Given the description of an element on the screen output the (x, y) to click on. 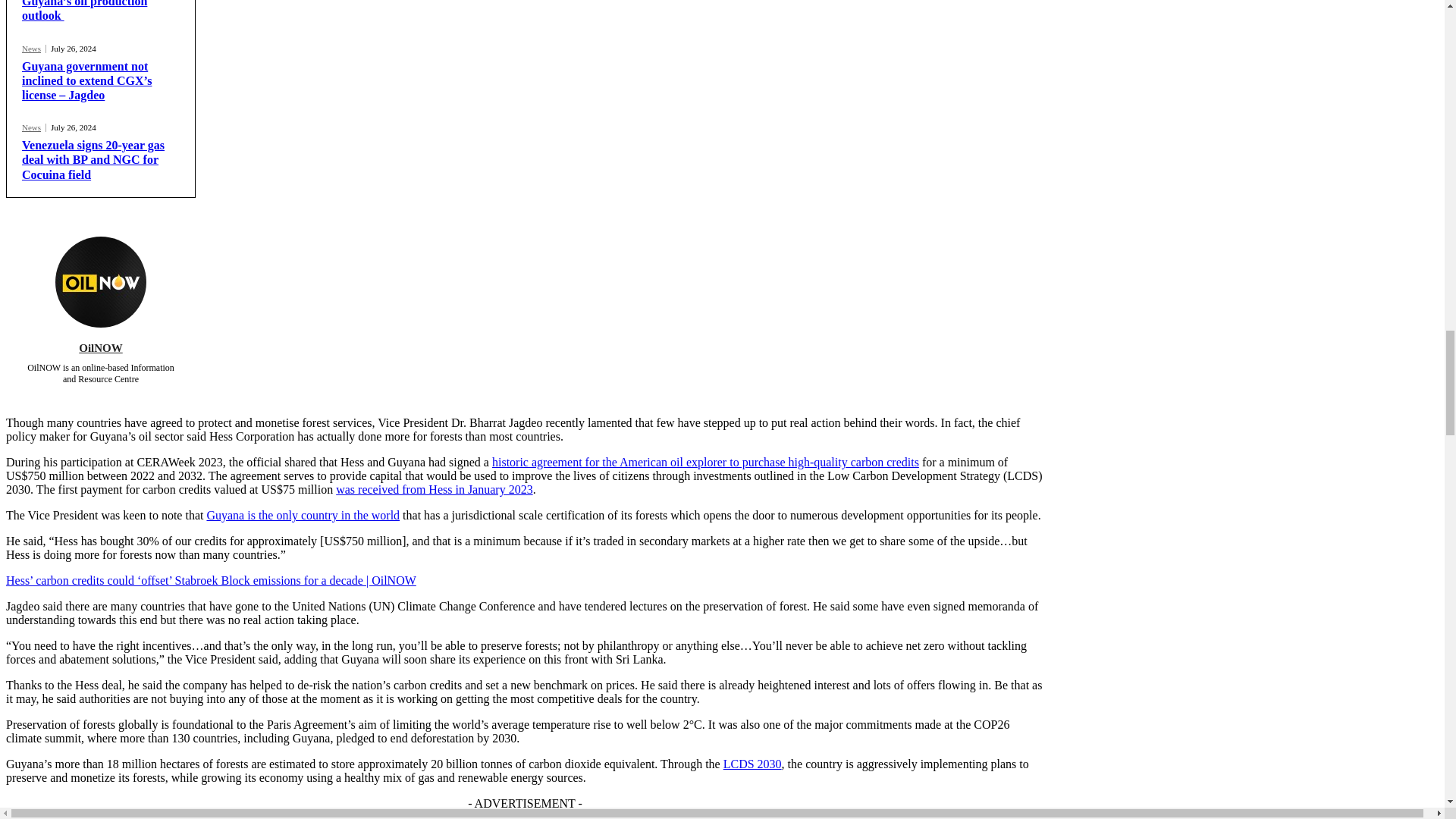
OilNOW (101, 281)
